Given the description of an element on the screen output the (x, y) to click on. 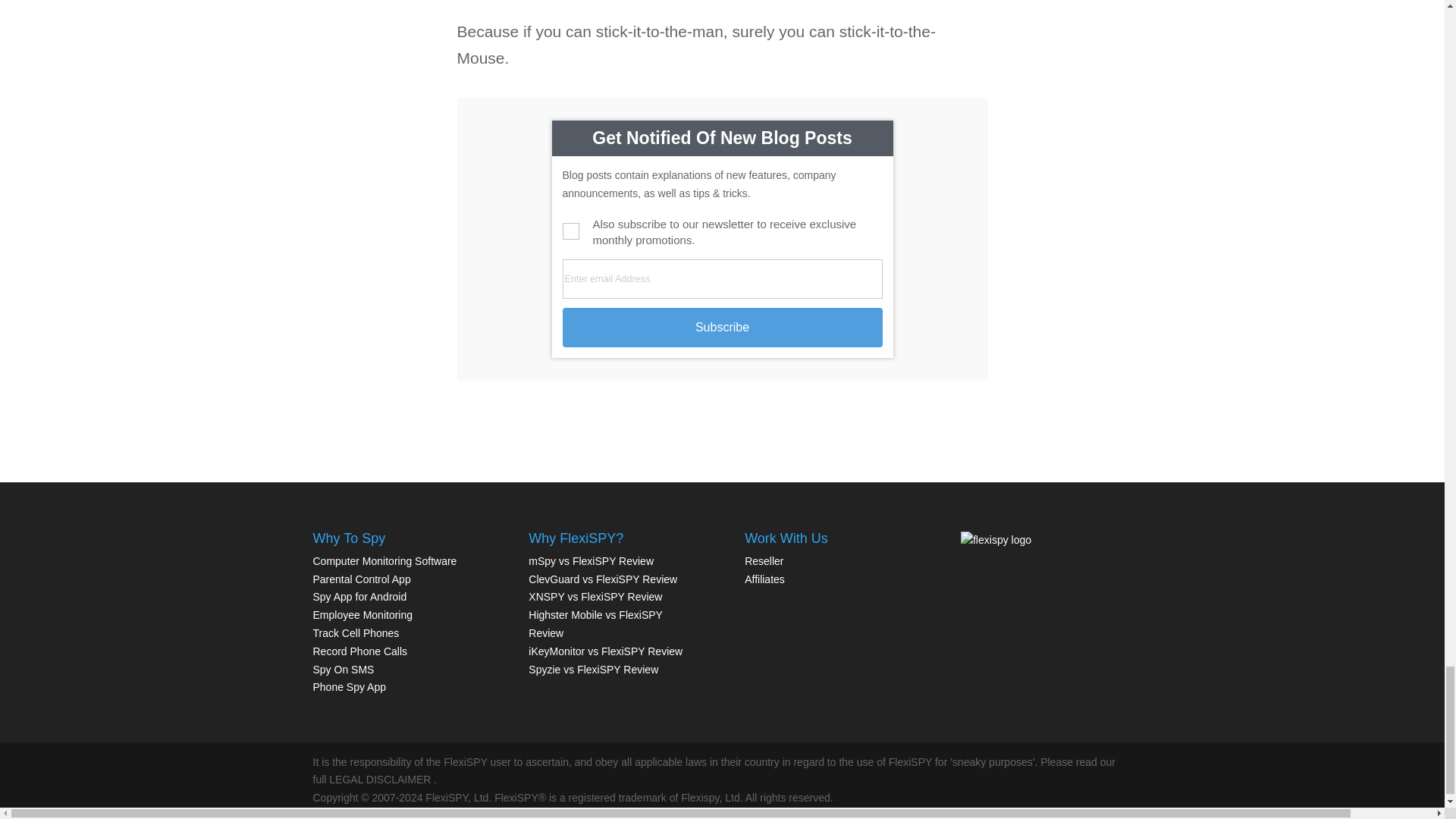
Track Cell Phones (355, 633)
Spy On SMS (343, 669)
Spy App for Android (359, 596)
Record Phone Calls (360, 651)
Phone Spy App (349, 686)
Employee Monitoring (362, 614)
Computer Monitoring Software (385, 561)
mSpy vs FlexiSPY Review (590, 561)
Parental Control App (361, 579)
